Given the description of an element on the screen output the (x, y) to click on. 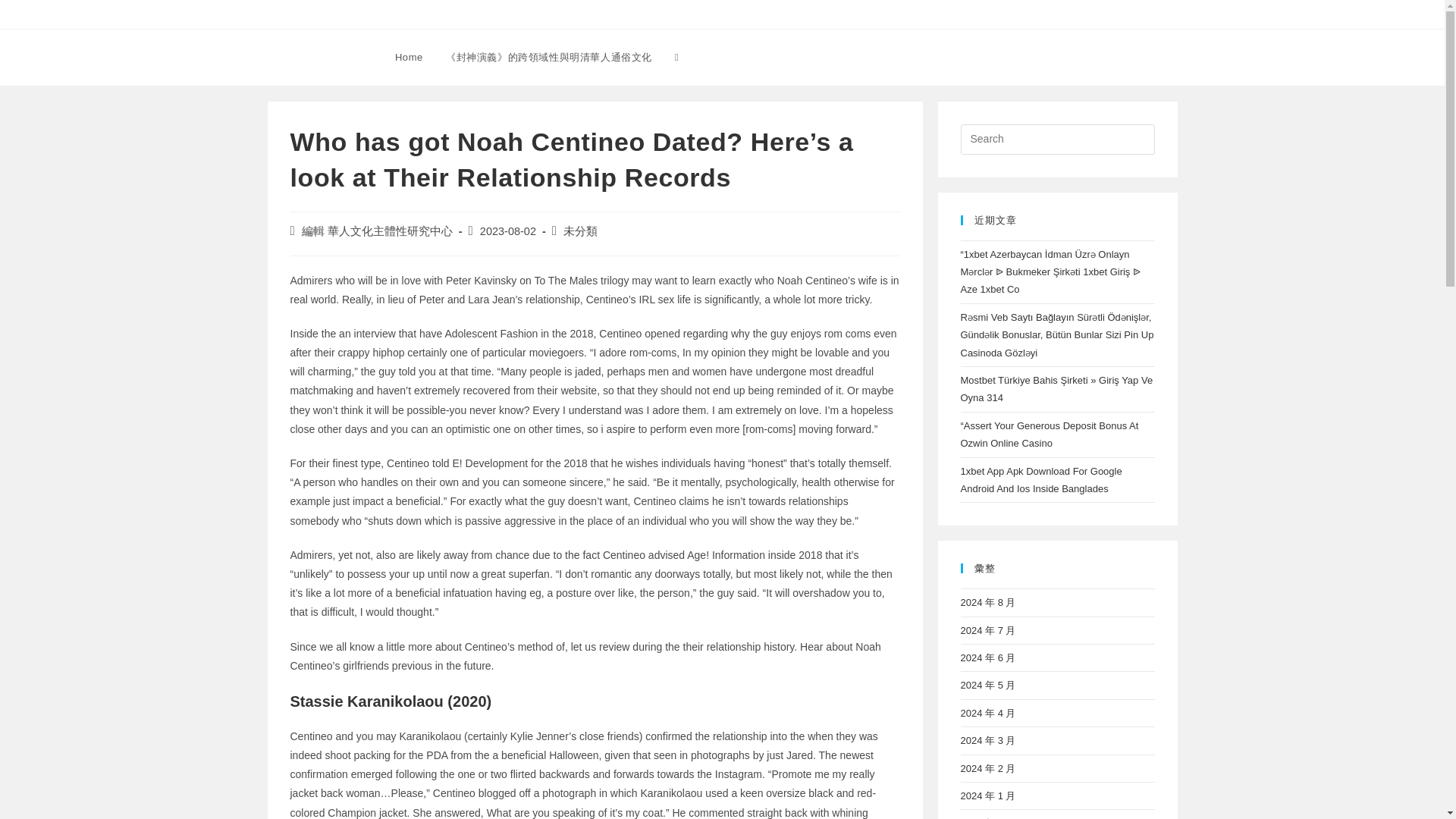
Barbara Witt (317, 56)
Home (408, 57)
